Given the description of an element on the screen output the (x, y) to click on. 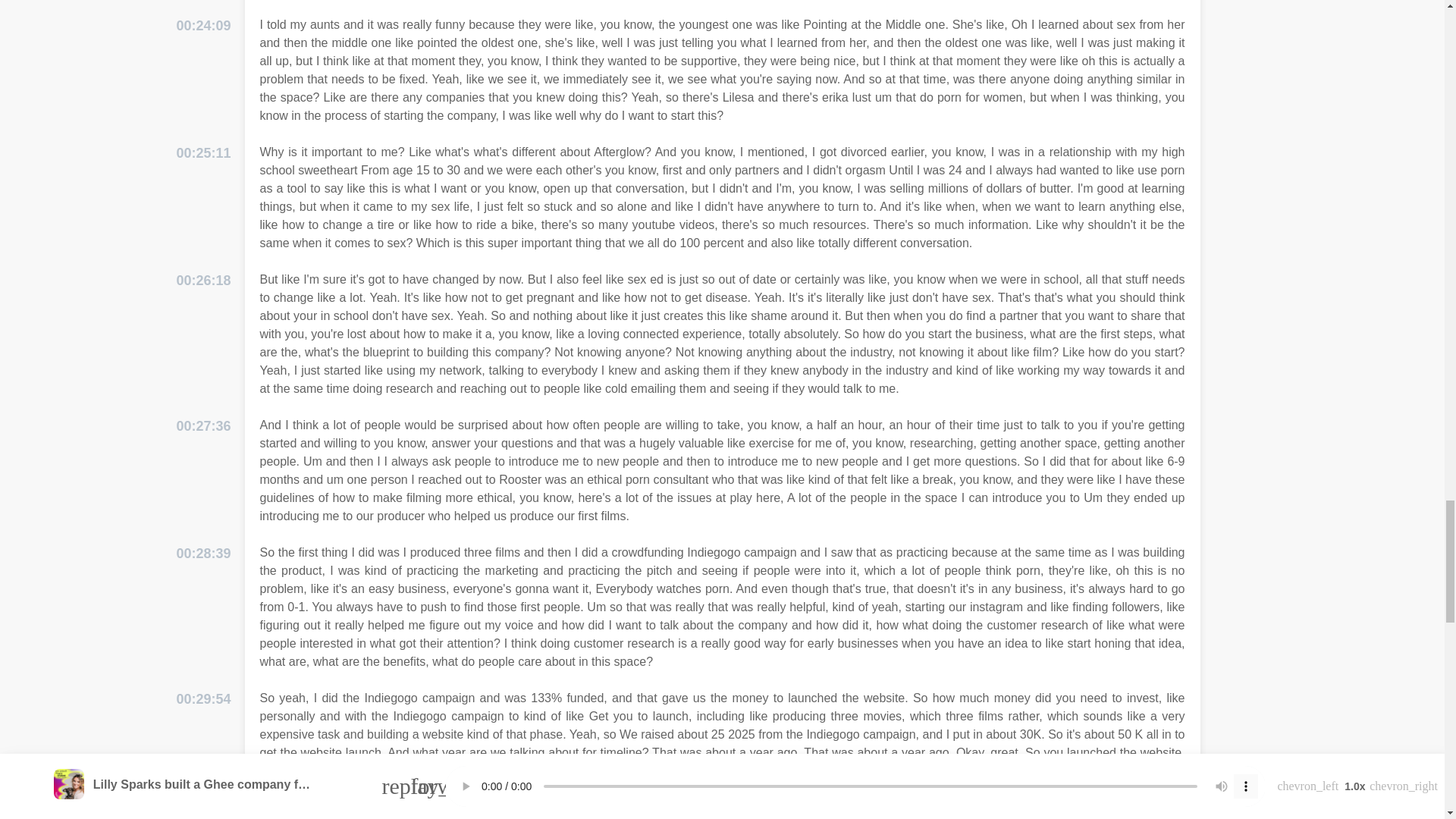
00:24:09 (203, 25)
00:27:36 (203, 426)
00:29:54 (203, 699)
00:25:11 (203, 153)
00:28:39 (203, 553)
00:31:06 (203, 817)
00:26:18 (203, 281)
